Given the description of an element on the screen output the (x, y) to click on. 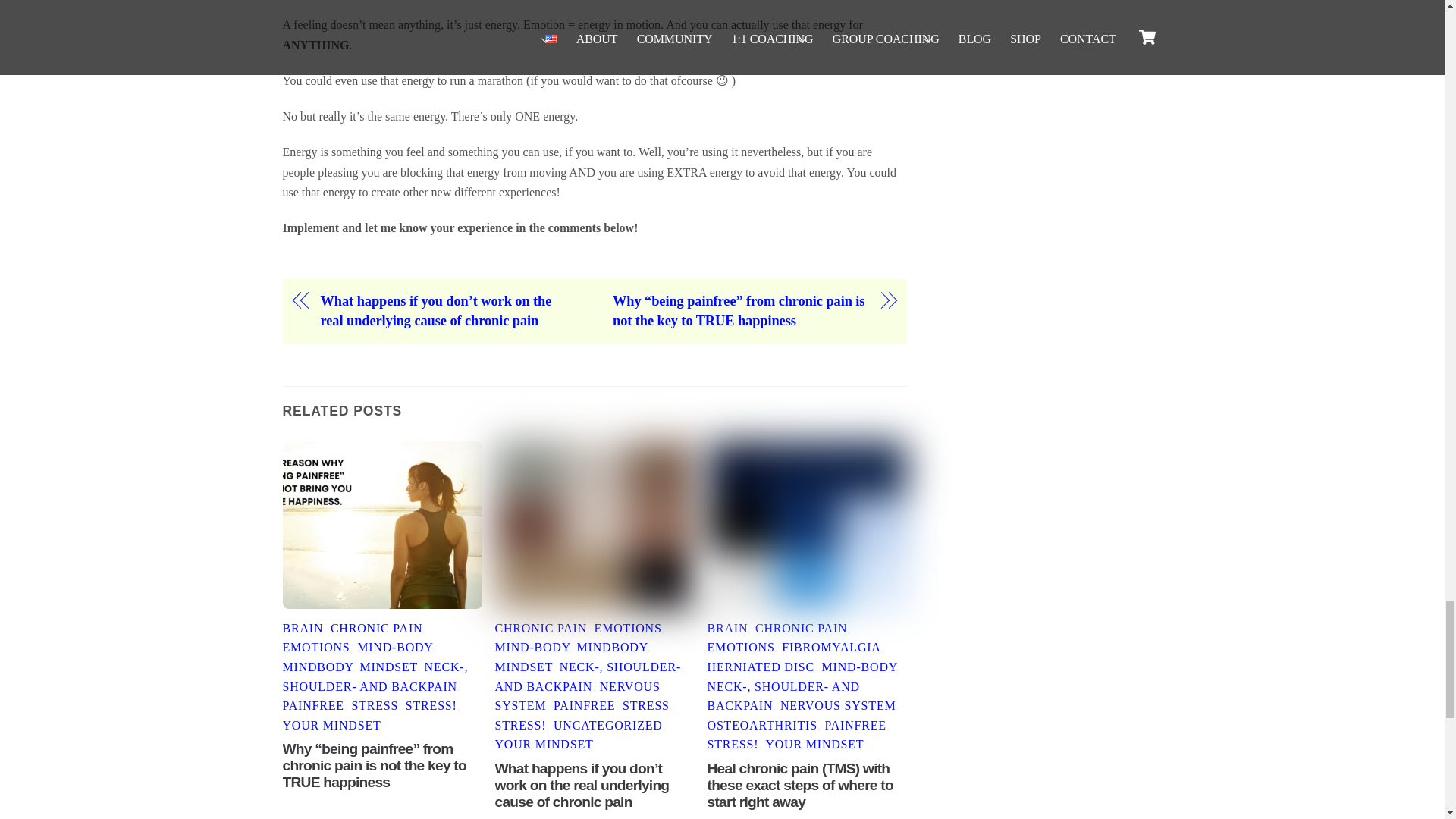
Blog The real underlying cause of chronic pain (595, 525)
TMS chronic pain healing (807, 525)
BRAIN (302, 627)
